Given the description of an element on the screen output the (x, y) to click on. 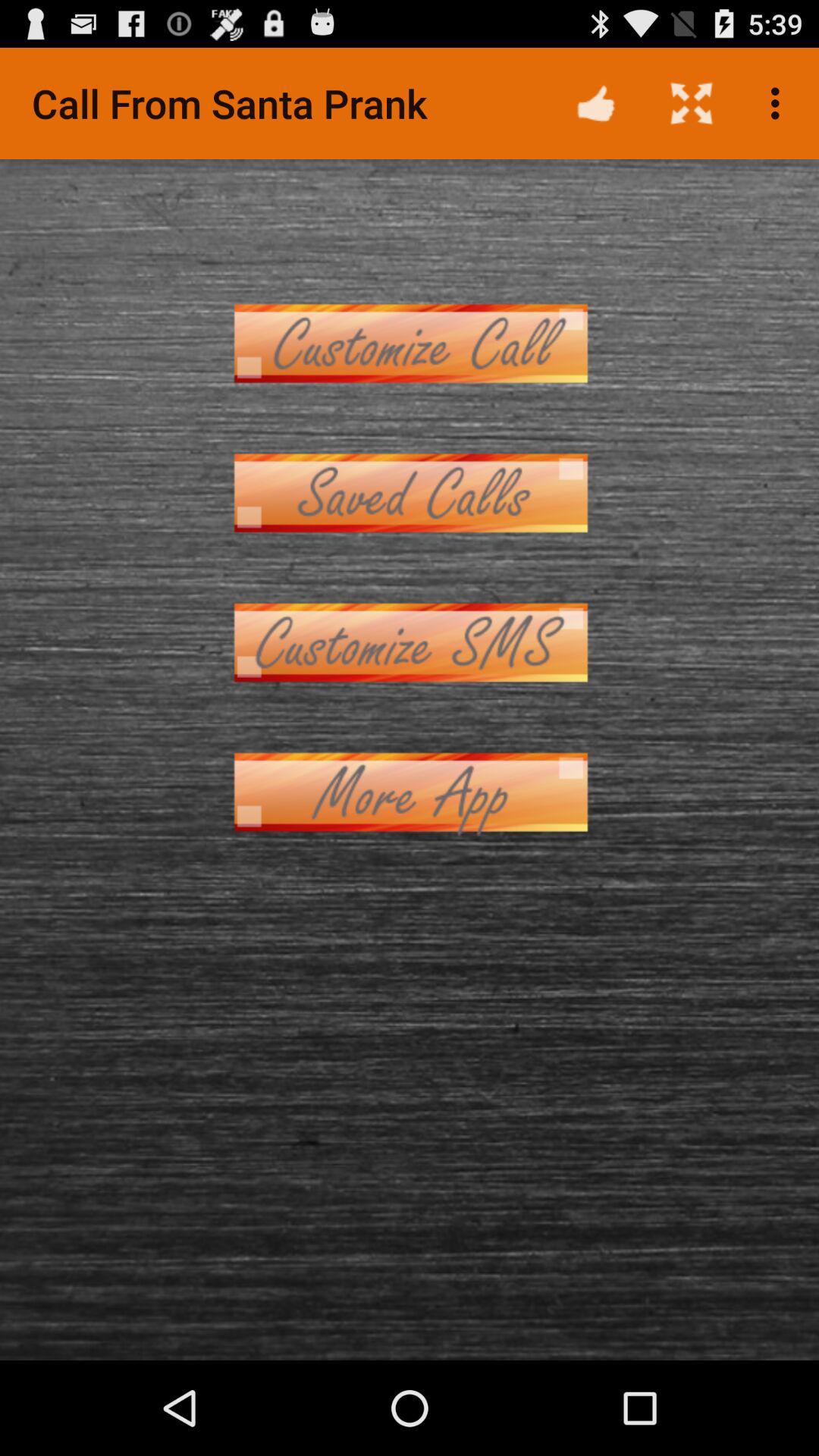
customize call (409, 343)
